Given the description of an element on the screen output the (x, y) to click on. 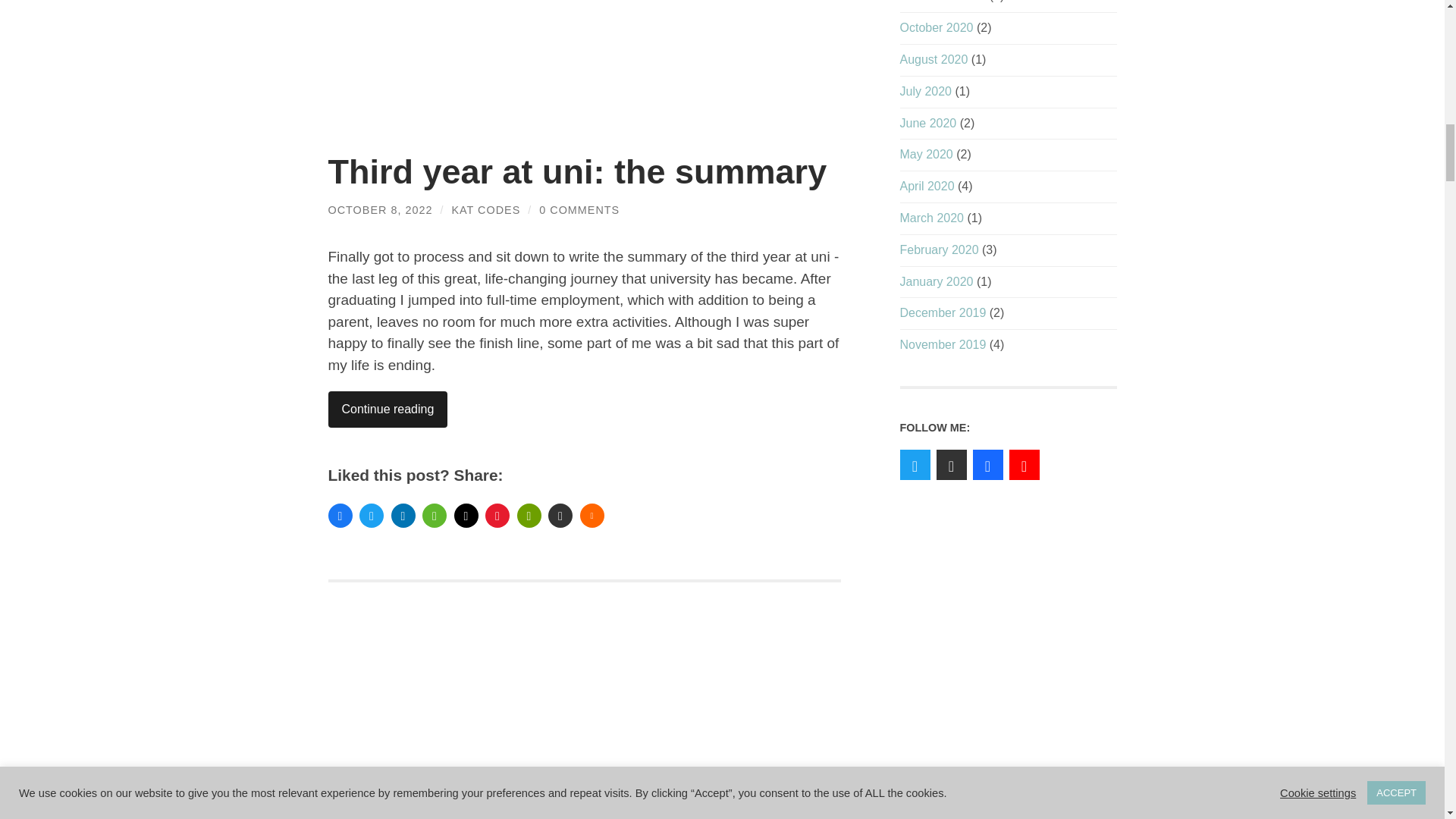
WhatsApp (434, 515)
LinkedIn (402, 515)
OCTOBER 8, 2022 (379, 209)
Twitter (371, 515)
Facebook (339, 515)
Posts by kat codes (485, 209)
KAT CODES (485, 209)
Third year at uni: the summary (577, 171)
